Given the description of an element on the screen output the (x, y) to click on. 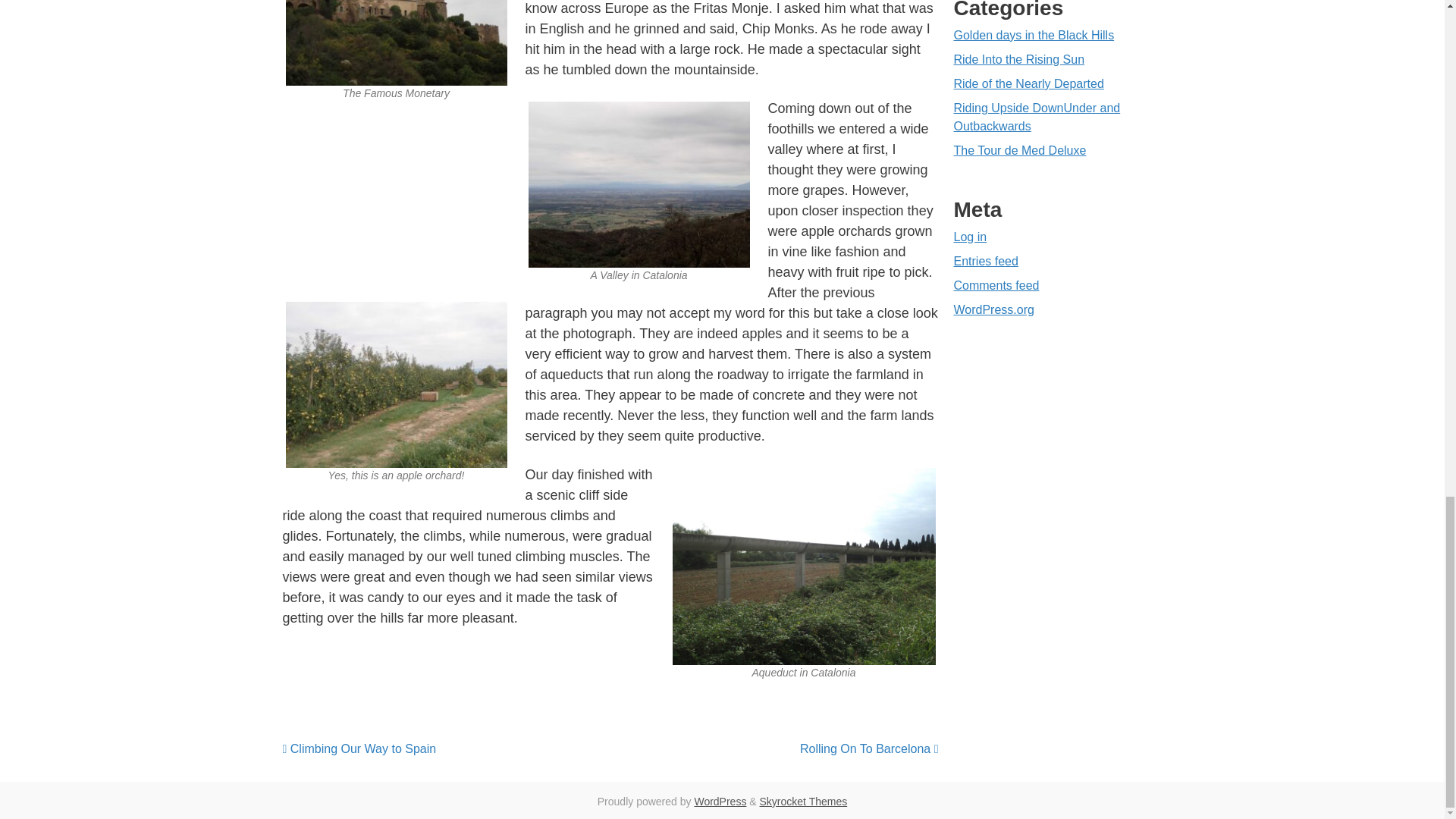
Semantic Personal Publishing Platform (719, 801)
Climbing Our Way to Spain (358, 748)
Rolling On To Barcelona (869, 748)
Skyrocket Themes (803, 801)
